Given the description of an element on the screen output the (x, y) to click on. 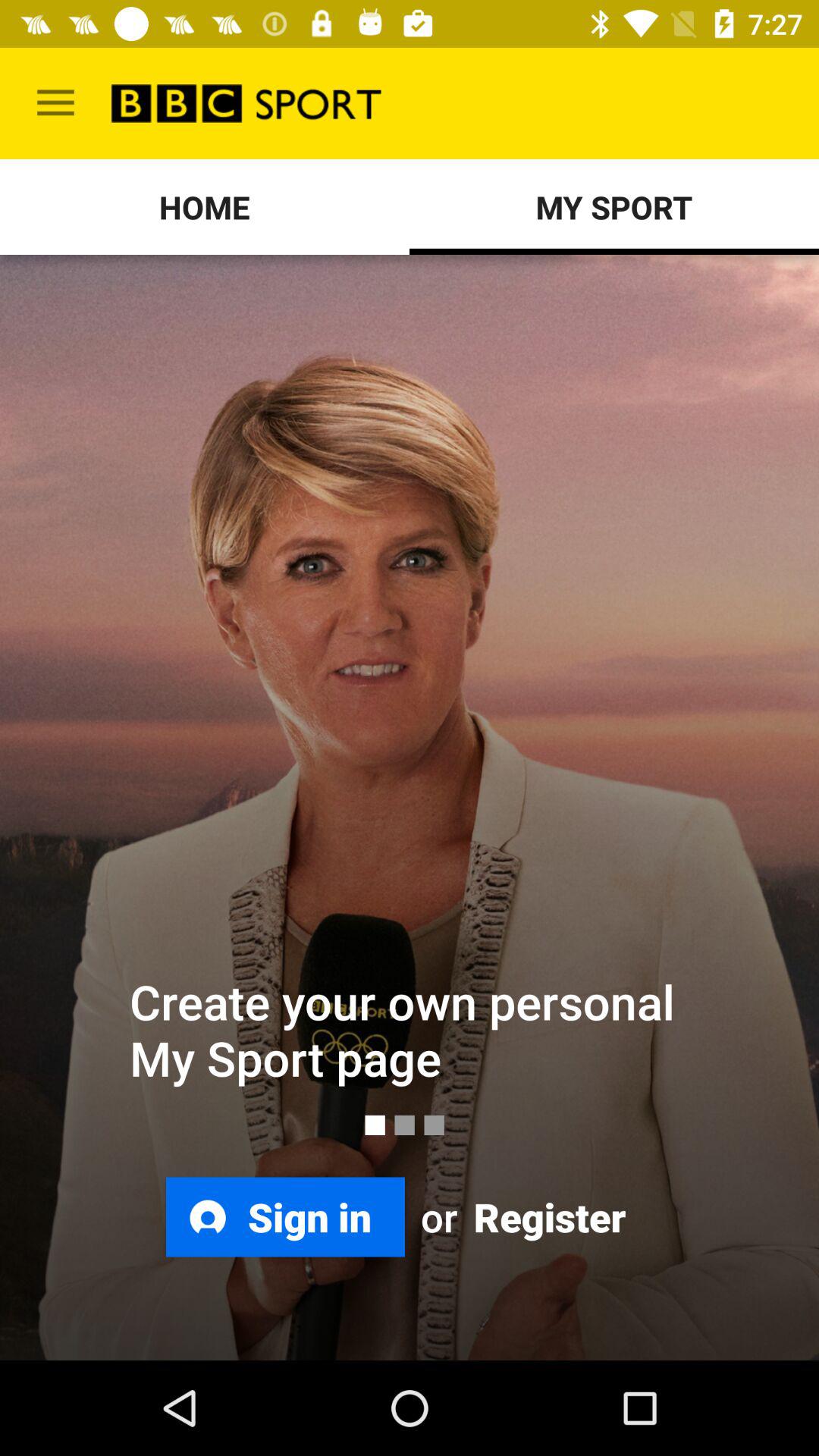
click register item (547, 1216)
